Given the description of an element on the screen output the (x, y) to click on. 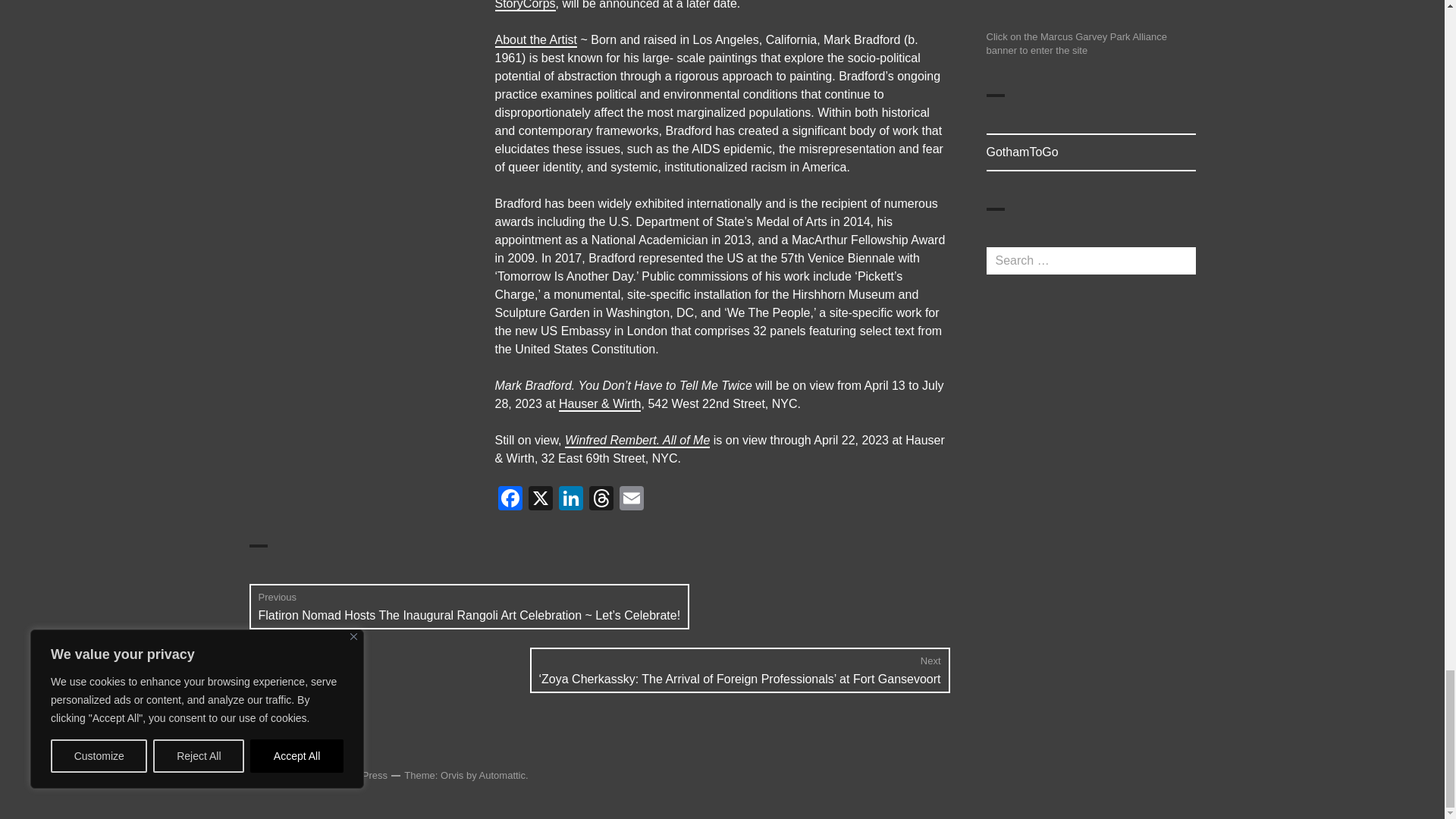
Winfred Rembert. All of Me (637, 440)
X (539, 500)
Facebook (509, 500)
Facebook (509, 500)
LinkedIn (569, 500)
Threads (600, 500)
Email (630, 500)
Threads (600, 500)
LinkedIn (569, 500)
StoryCorps (524, 4)
About the Artist (535, 39)
X (539, 500)
Page 4 (722, 330)
Email (630, 500)
